Given the description of an element on the screen output the (x, y) to click on. 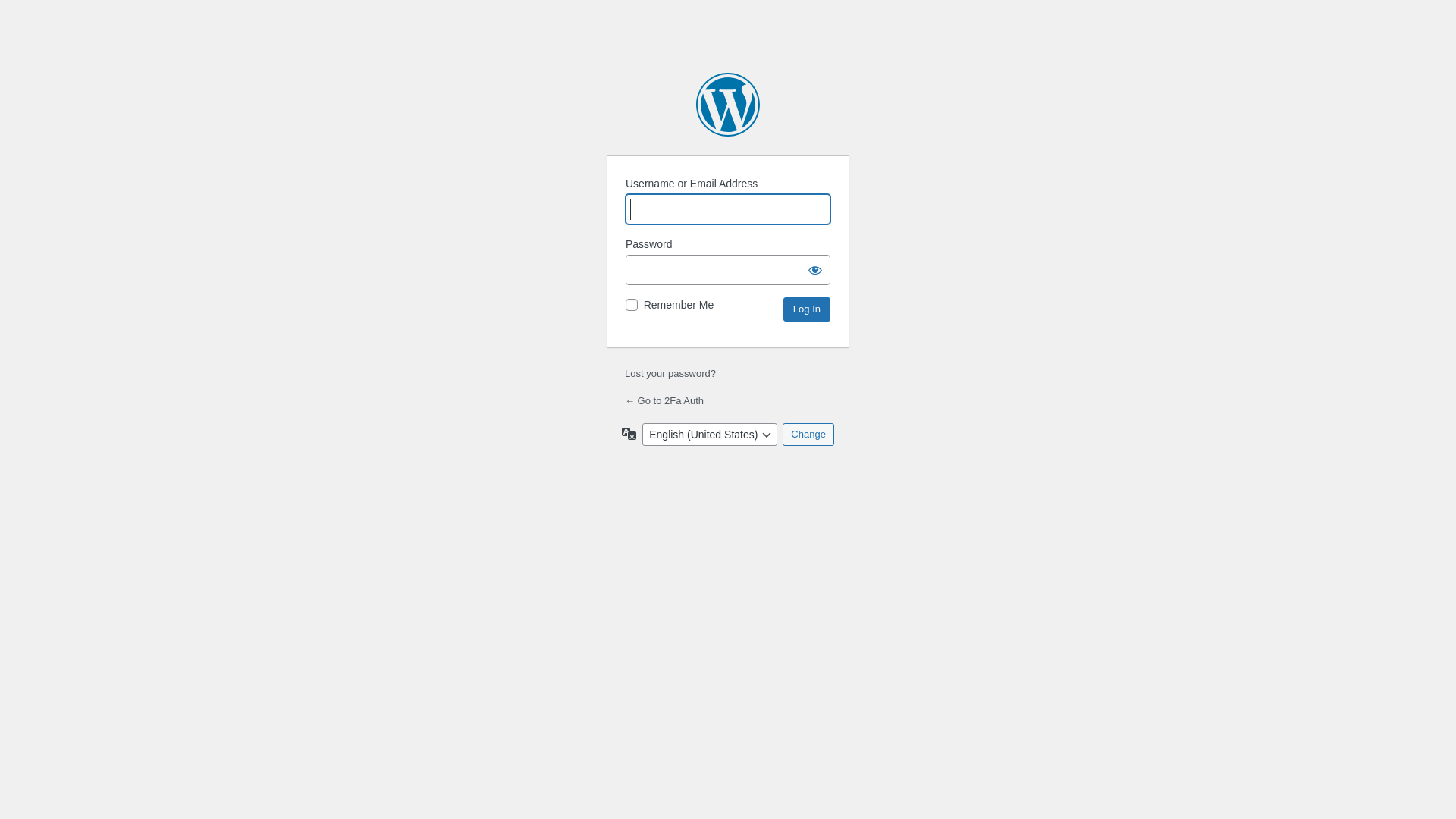
Change Element type: text (808, 434)
Powered by WordPress Element type: text (727, 104)
Lost your password? Element type: text (669, 373)
Log In Element type: text (806, 309)
